Given the description of an element on the screen output the (x, y) to click on. 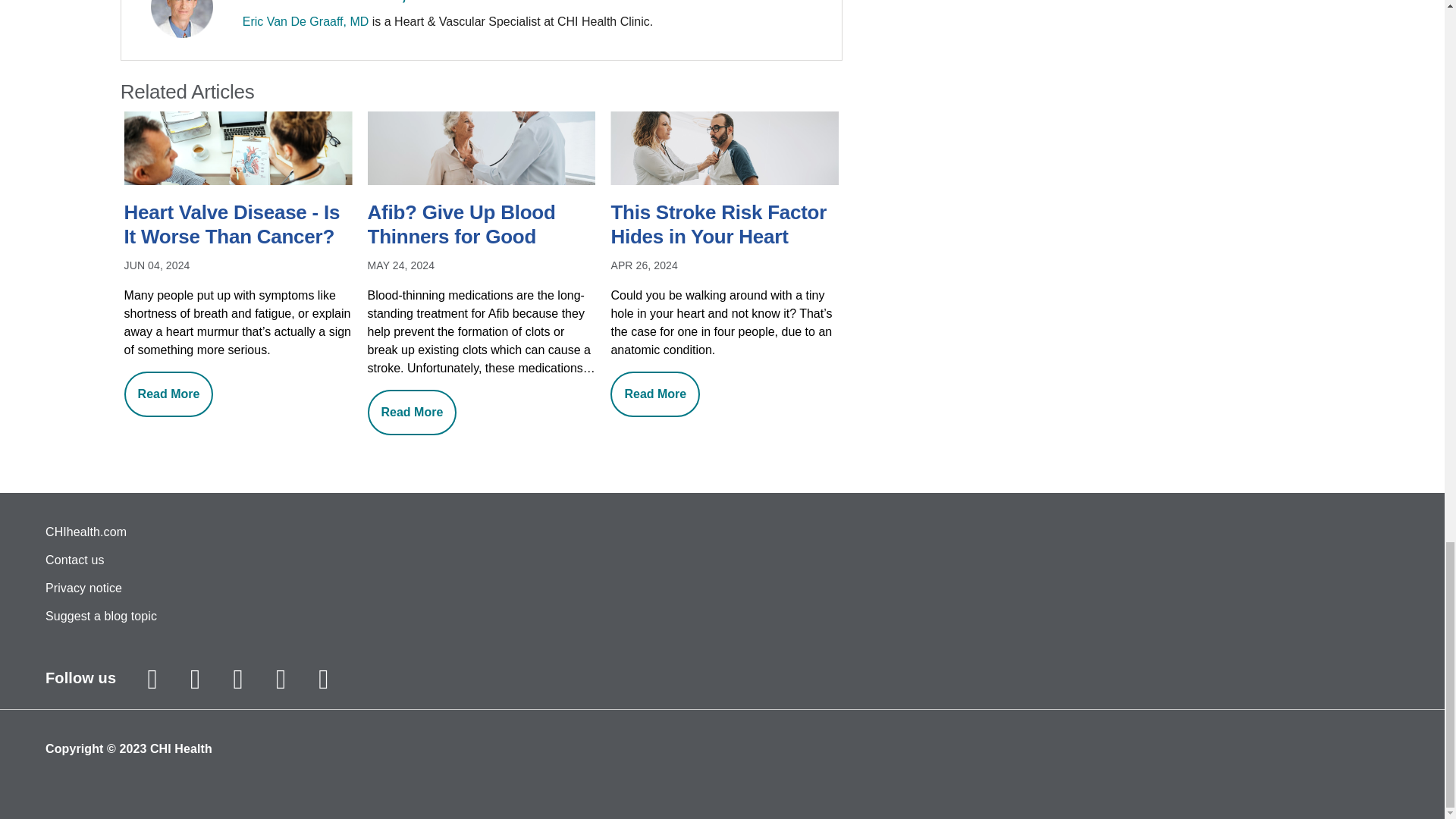
CHI Health Youtube page (280, 678)
Read More (655, 393)
CHI Health Linkedin page (323, 678)
CHI Health Instagram page (151, 678)
Afib? Give Up Blood Thinners for Good (481, 225)
Read More (412, 411)
CHI Health Facebook page (195, 678)
Read More (168, 393)
Eric Van De Graaff, MD (306, 21)
Eric Van De Graaff, MD (341, 2)
